Given the description of an element on the screen output the (x, y) to click on. 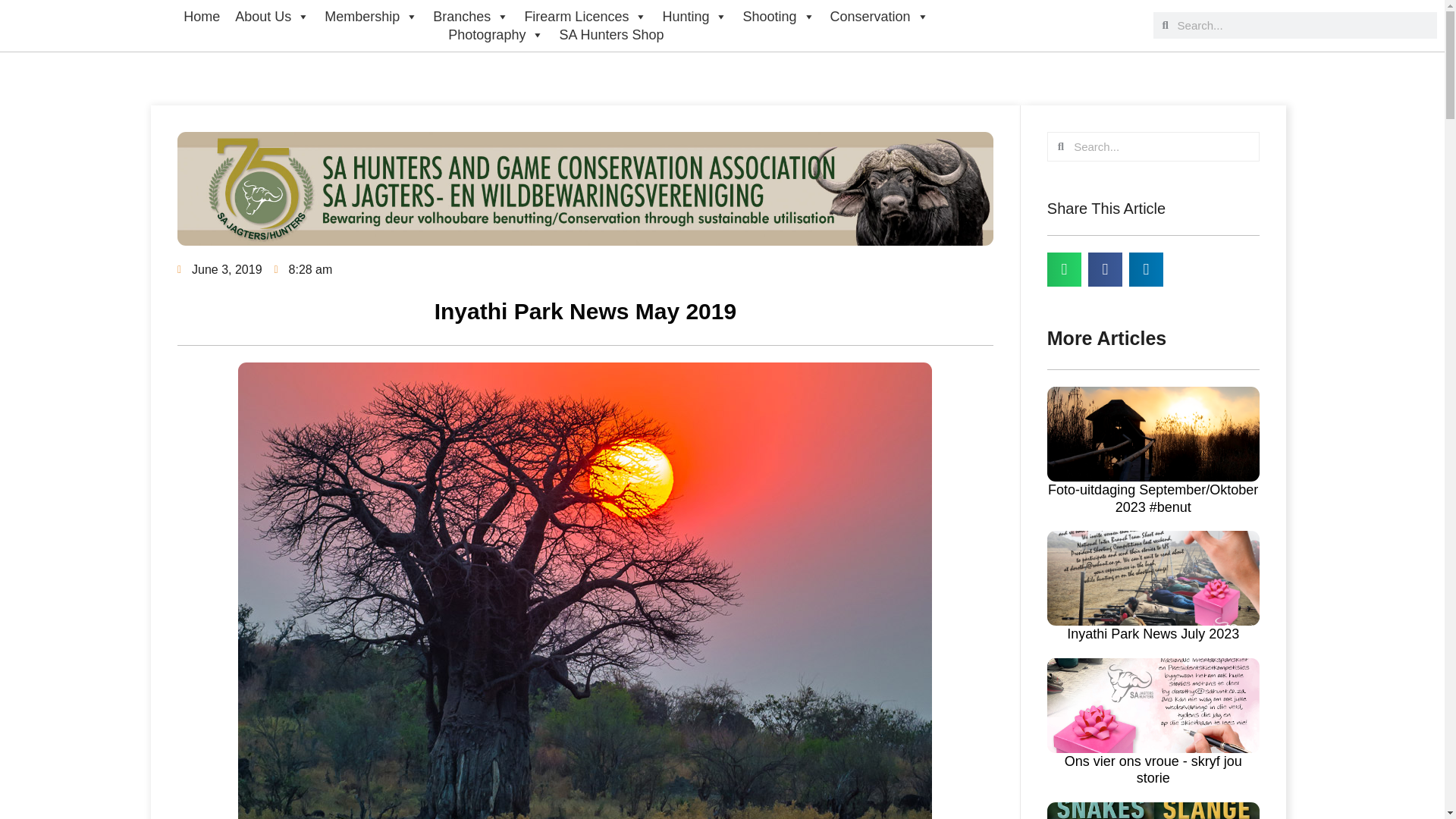
Membership (371, 16)
Firearm Licences (584, 16)
Branches (470, 16)
About Us (272, 16)
Home (201, 16)
